Given the description of an element on the screen output the (x, y) to click on. 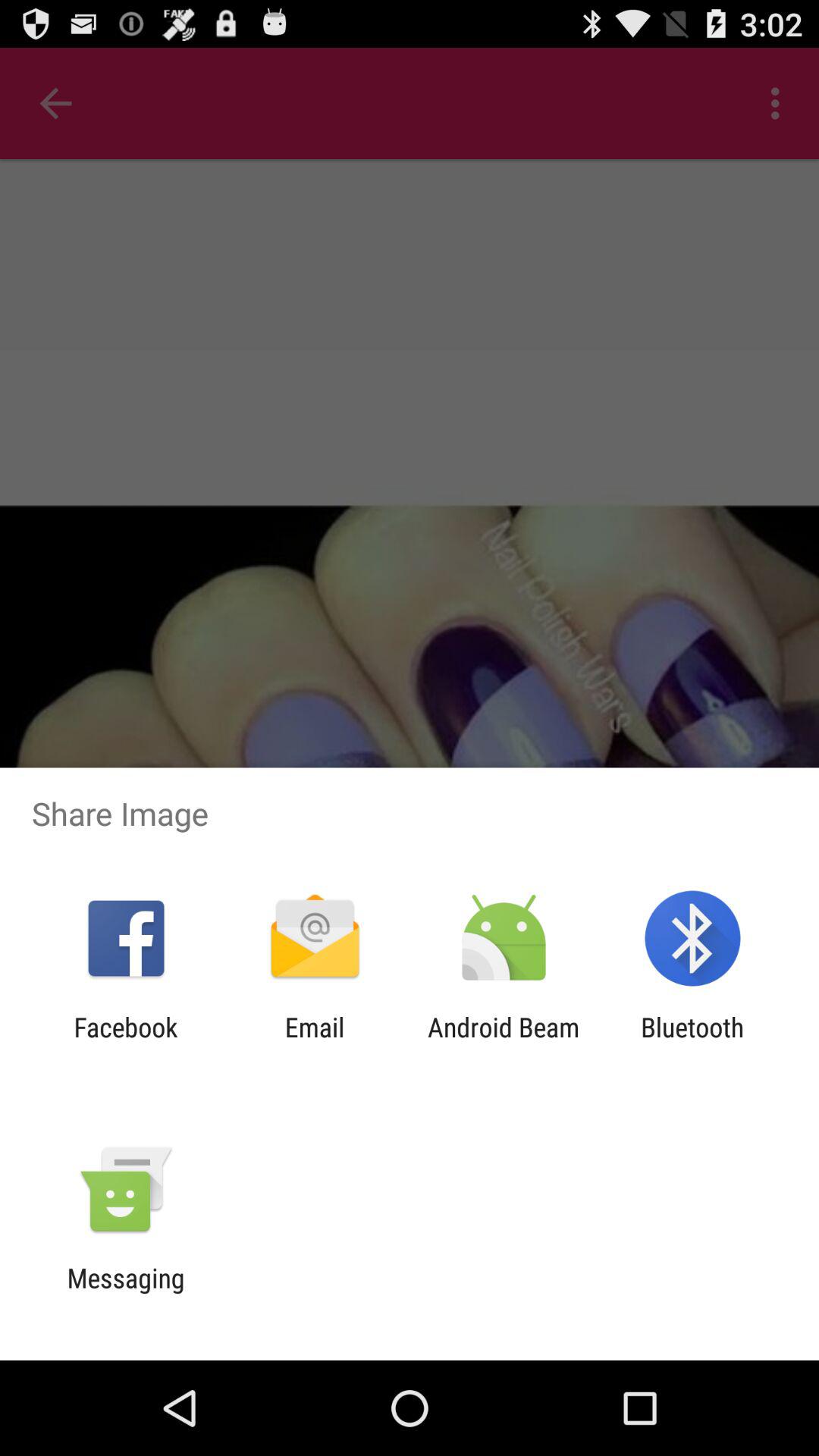
swipe to the android beam app (503, 1042)
